Given the description of an element on the screen output the (x, y) to click on. 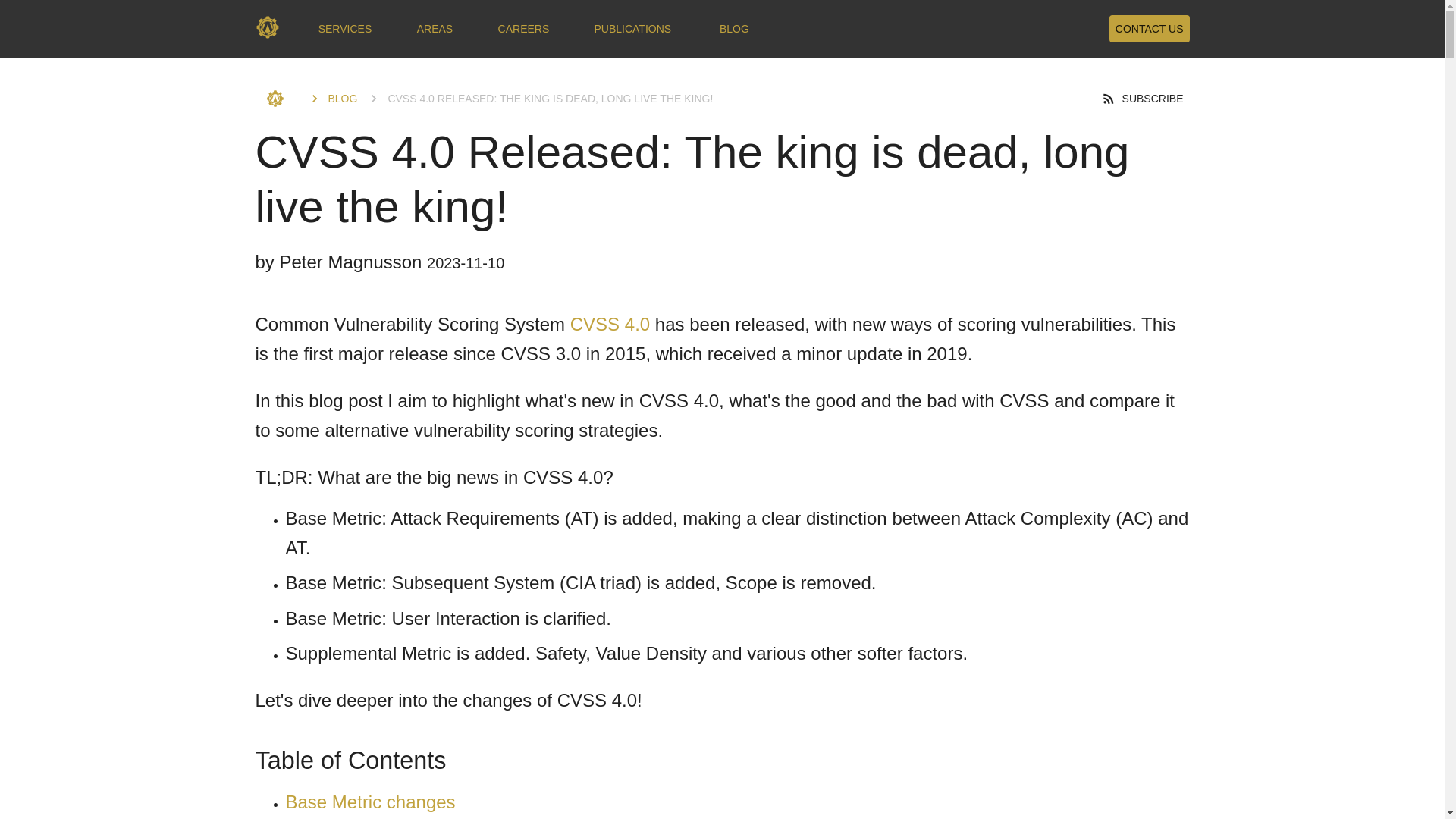
CONTACT US (1149, 29)
CAREERS (524, 29)
BLOG (734, 29)
Blog (332, 99)
SERVICES (345, 29)
Start page (278, 98)
BLOG (332, 99)
Base Metric changes (369, 801)
CVSS 4.0 (609, 323)
AREAS (434, 29)
